Given the description of an element on the screen output the (x, y) to click on. 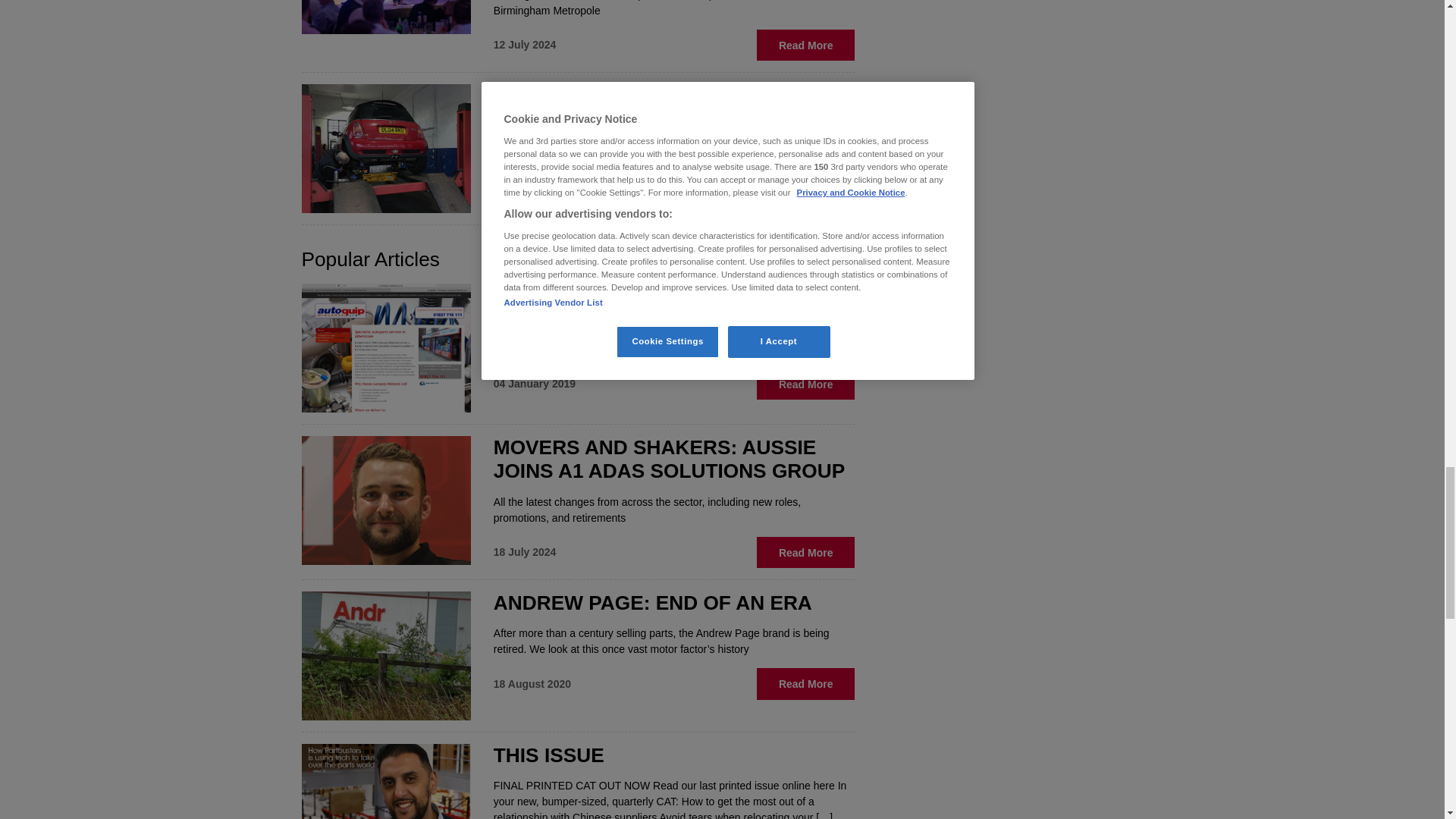
NEWS: AUTOQUIP MIDLANDS TAKEN OVER BY AAUK (672, 306)
Read More (806, 183)
Read More (806, 44)
RMI OPENS NEW MOT TRAINING CENTRE (651, 107)
